Given the description of an element on the screen output the (x, y) to click on. 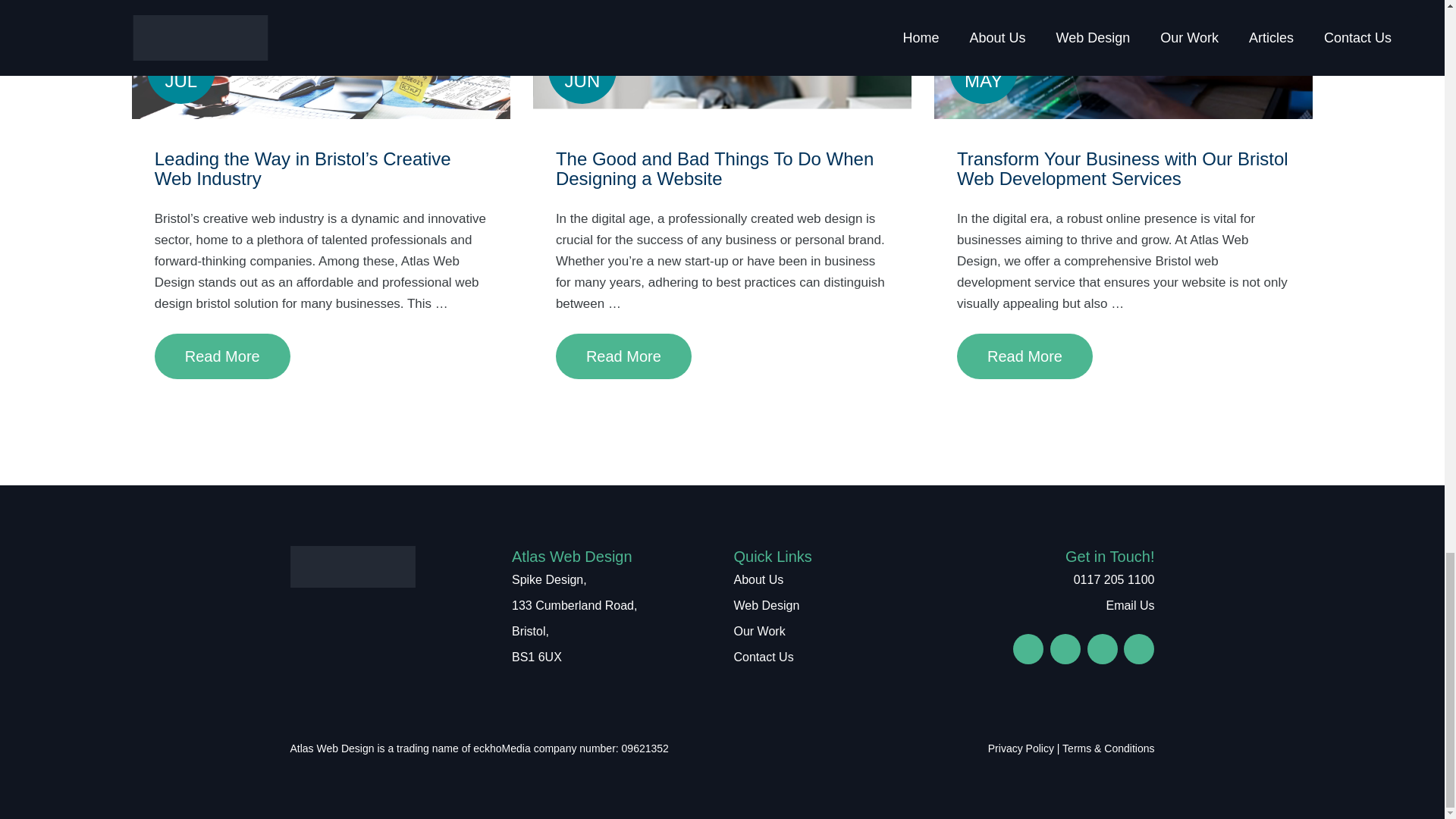
Email Us (1128, 604)
About Us (758, 579)
Contact Us (763, 656)
Read More (1024, 356)
0117 205 1100 (1112, 579)
Read More (623, 356)
Privacy Policy (1021, 748)
Web Design (766, 604)
Read More (221, 356)
Our Work (758, 631)
